Given the description of an element on the screen output the (x, y) to click on. 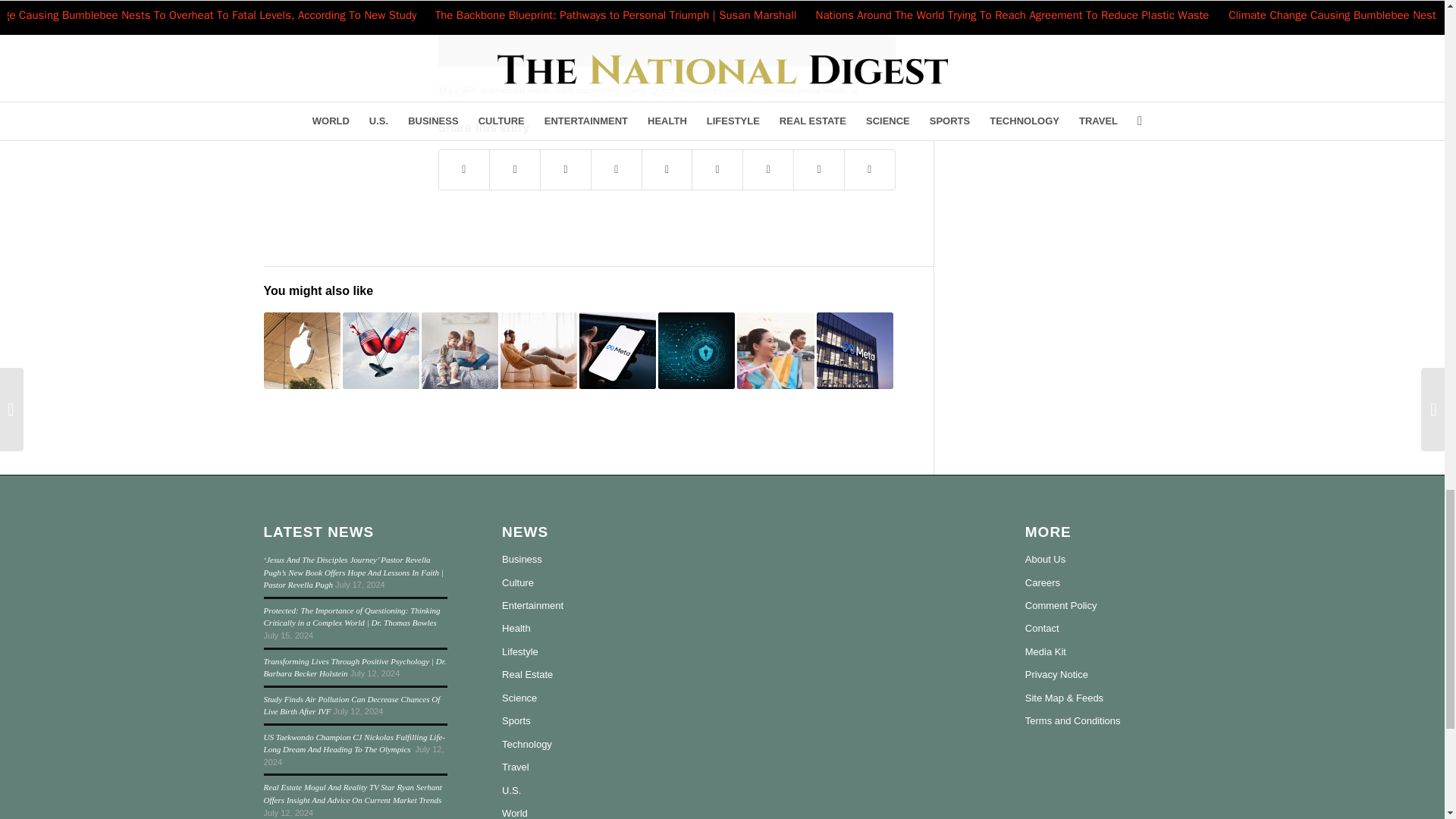
AR (468, 90)
mark zuckerberg (587, 90)
technology (699, 90)
augmented reality (515, 90)
meta (635, 90)
technology news (759, 90)
Quest (662, 90)
